Given the description of an element on the screen output the (x, y) to click on. 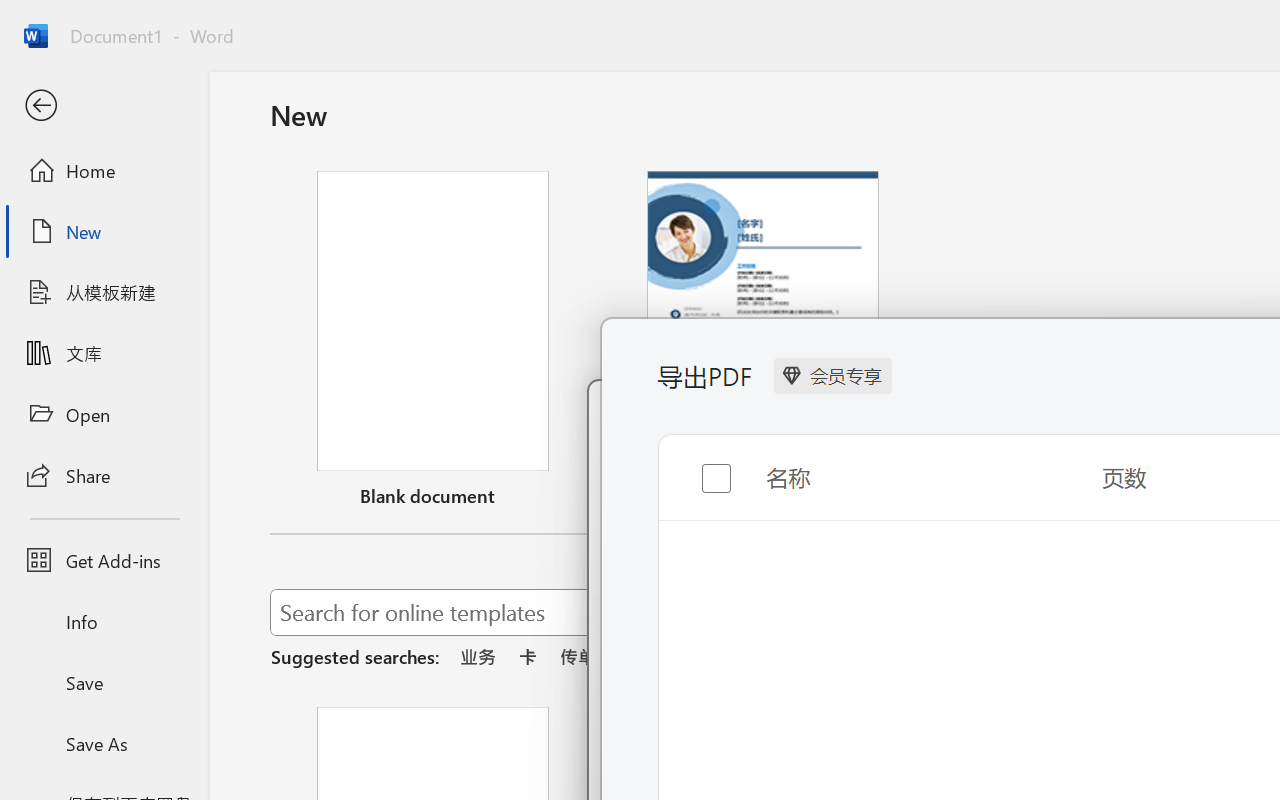
Info (104, 621)
Back (104, 106)
